Given the description of an element on the screen output the (x, y) to click on. 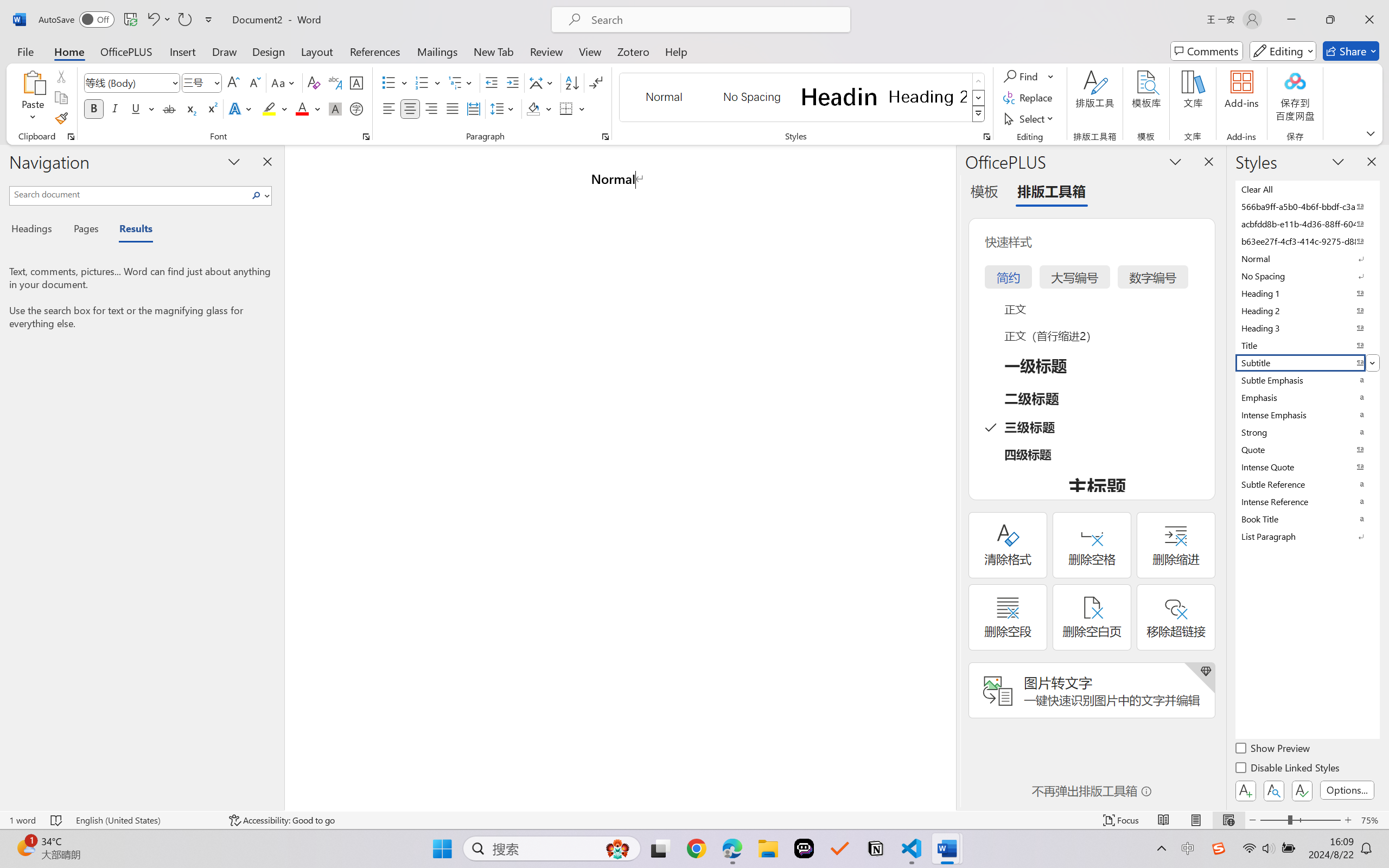
Print Layout (1196, 819)
Copy (60, 97)
Font... (365, 136)
Normal (1306, 258)
Subtle Reference (1306, 484)
References (375, 51)
Text Effects and Typography (241, 108)
Font Size (196, 82)
566ba9ff-a5b0-4b6f-bbdf-c3ab41993fc2 (1306, 206)
Show Preview (1273, 749)
